Given the description of an element on the screen output the (x, y) to click on. 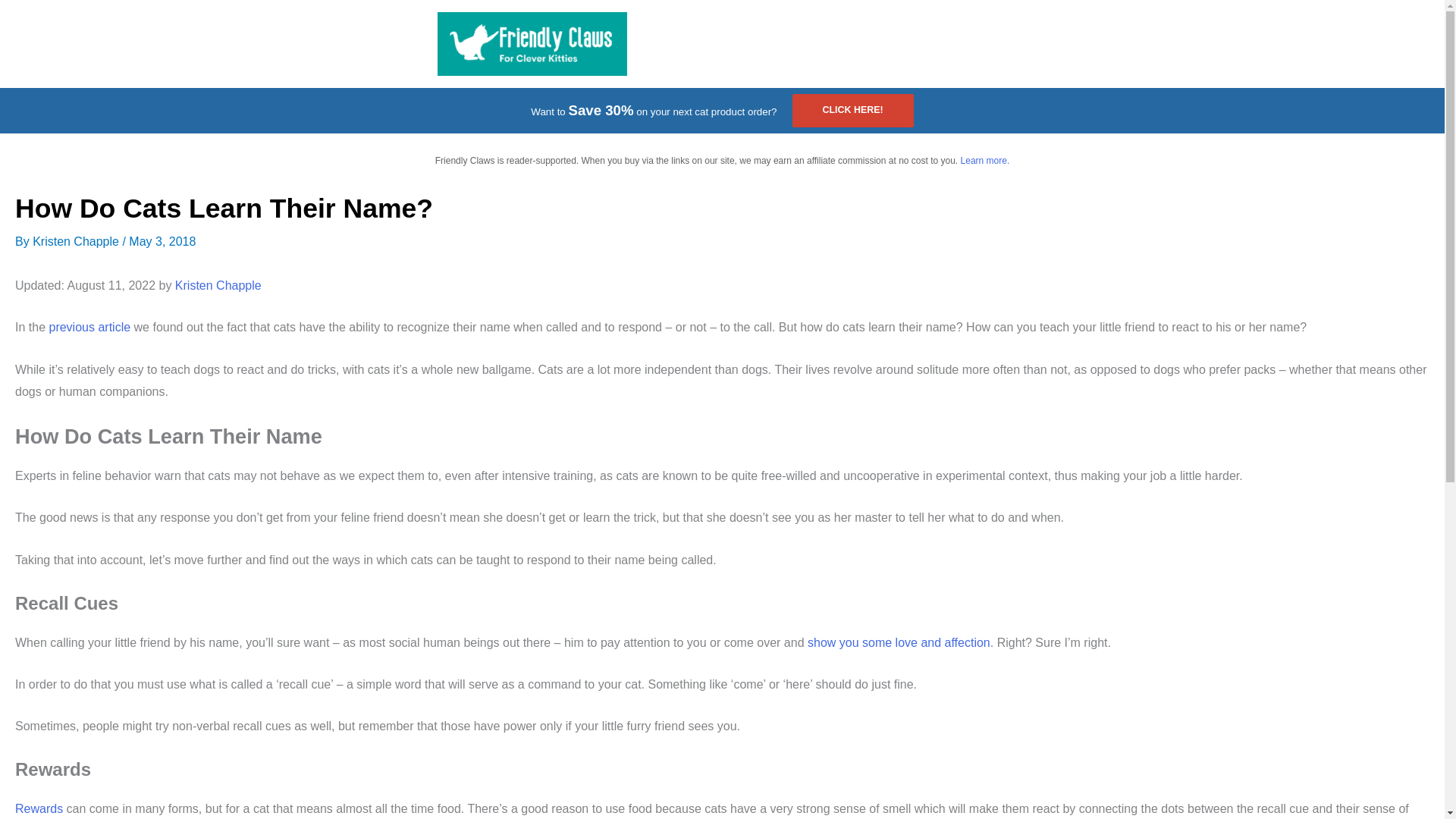
HEALTH (833, 44)
CAT FOOD (694, 44)
LITTER (769, 44)
BLOG (960, 44)
CLICK HERE! (853, 110)
View all posts by Kristen Chapple (77, 241)
BEHAVIOR (899, 44)
